Given the description of an element on the screen output the (x, y) to click on. 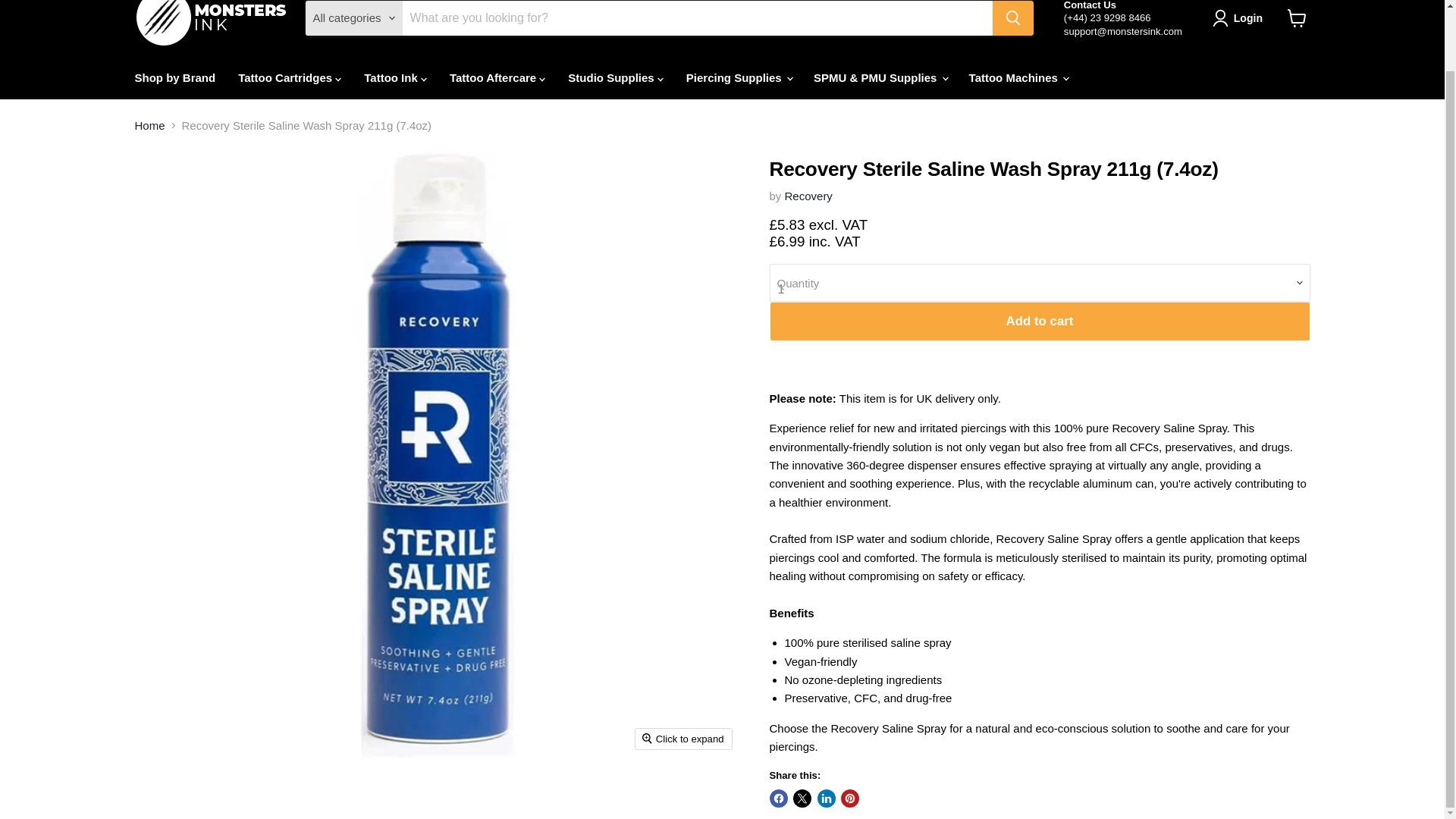
Login (1240, 18)
Shop by Brand (174, 77)
Recovery (808, 195)
View cart (1296, 18)
